Given the description of an element on the screen output the (x, y) to click on. 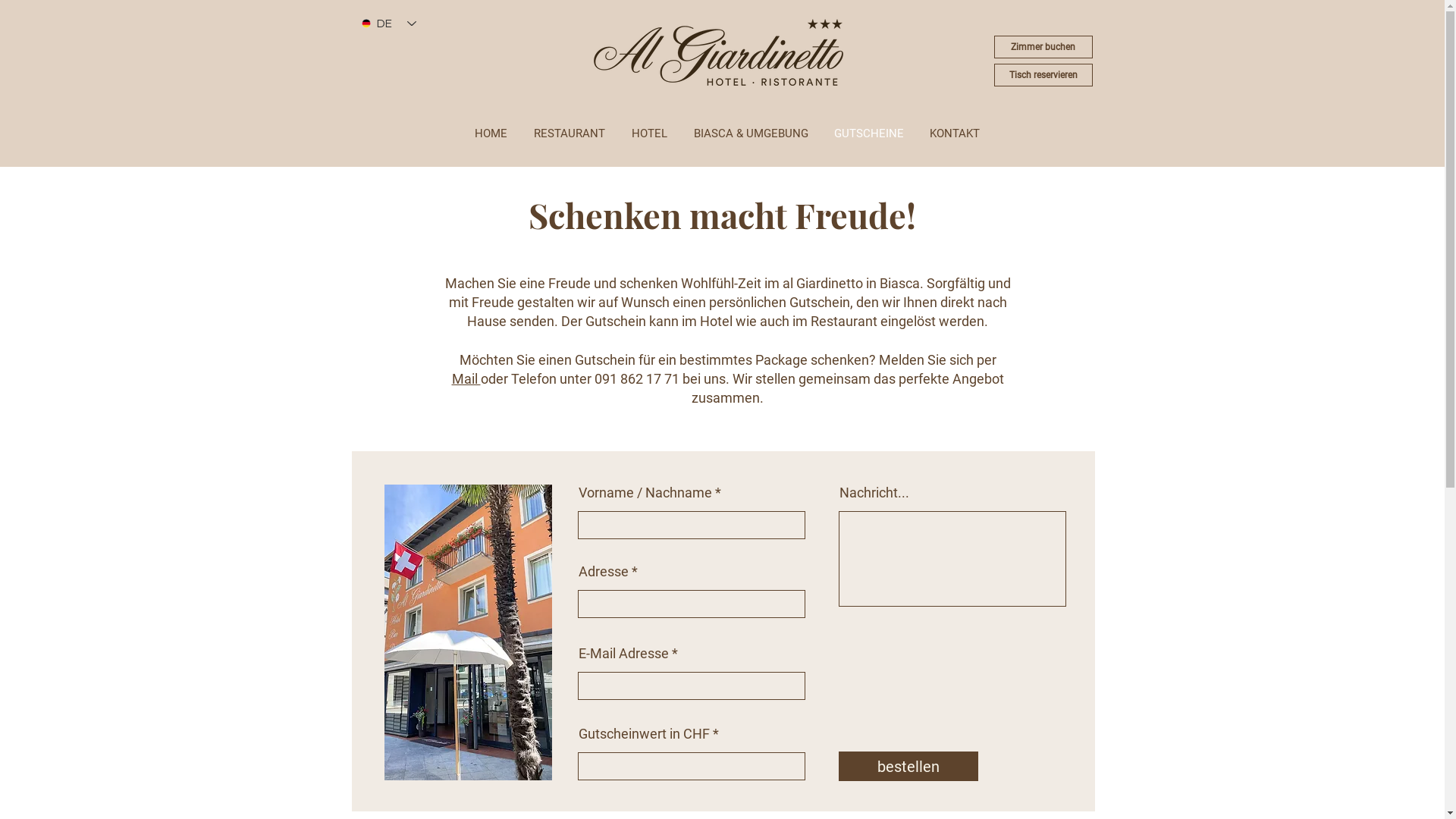
Tisch reservieren Element type: text (1042, 74)
HOME Element type: text (490, 133)
GUTSCHEINE Element type: text (868, 133)
KONTAKT Element type: text (953, 133)
091 862 17 71 Element type: text (636, 378)
Zimmer buchen Element type: text (1042, 46)
RESTAURANT Element type: text (569, 133)
BIASCA & UMGEBUNG Element type: text (750, 133)
Mail  Element type: text (465, 378)
bestellen Element type: text (908, 766)
HOTEL Element type: text (649, 133)
